Given the description of an element on the screen output the (x, y) to click on. 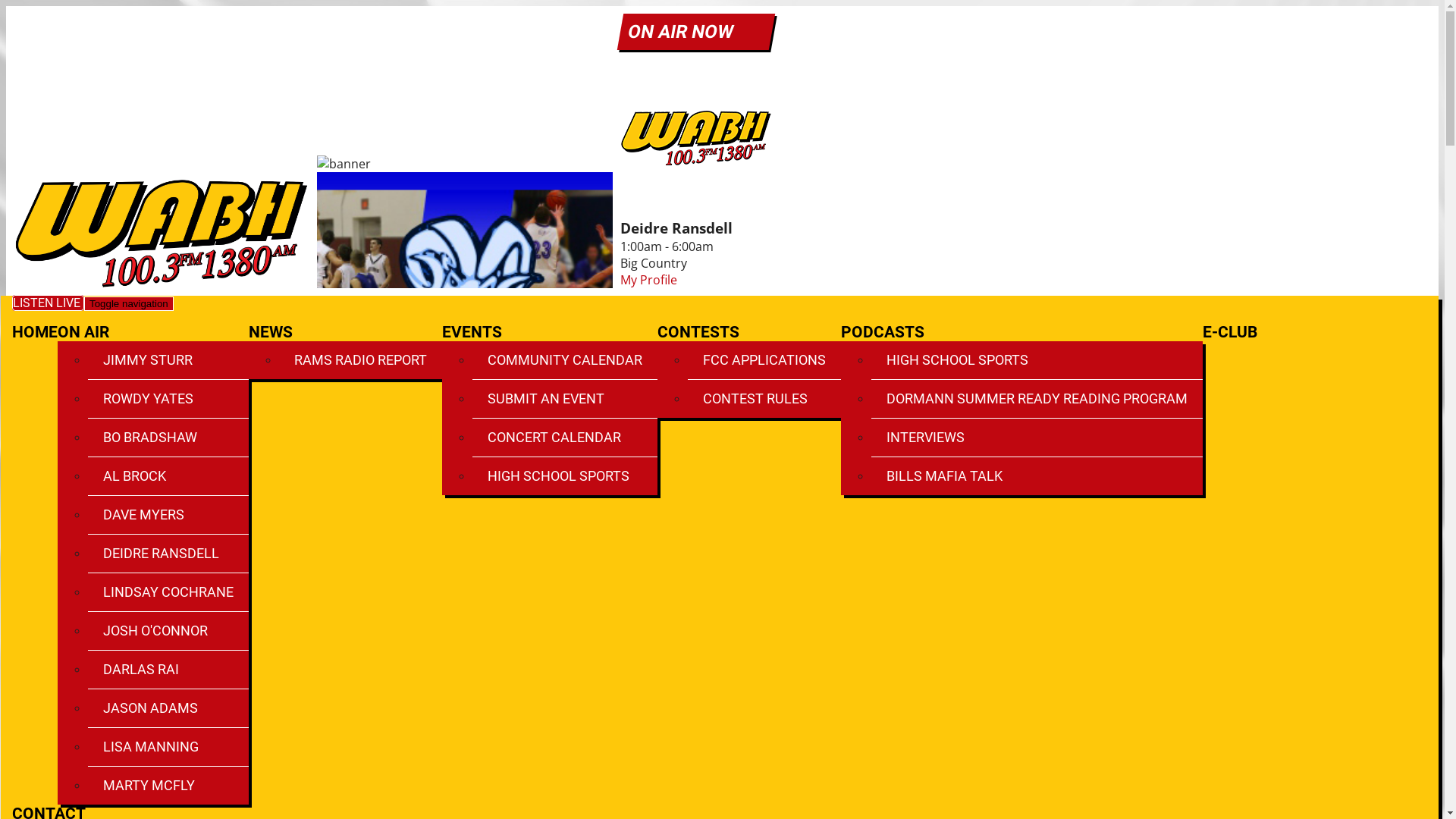
BO BRADSHAW Element type: text (167, 437)
NEWS Element type: text (270, 331)
INTERVIEWS Element type: text (1036, 437)
E-CLUB Element type: text (1229, 331)
CONTESTS Element type: text (698, 331)
FCC APPLICATIONS Element type: text (763, 360)
HIGH SCHOOL SPORTS Element type: text (1036, 360)
EVENTS Element type: text (472, 331)
HIGH SCHOOL SPORTS Element type: text (564, 476)
AL BROCK Element type: text (167, 476)
HOME Element type: text (34, 331)
LISTEN LIVE Element type: text (48, 302)
JIMMY STURR Element type: text (167, 360)
SUBMIT AN EVENT Element type: text (564, 398)
ON AIR Element type: text (83, 331)
CONTEST RULES Element type: text (763, 398)
DEIDRE RANSDELL Element type: text (167, 553)
DARLAS RAI Element type: text (167, 669)
LISA MANNING Element type: text (167, 746)
PODCASTS Element type: text (882, 331)
COMMUNITY CALENDAR Element type: text (564, 360)
LINDSAY COCHRANE Element type: text (167, 592)
Toggle navigation Element type: text (128, 303)
RAMS RADIO REPORT Element type: text (360, 360)
My Profile Element type: text (648, 279)
BILLS MAFIA TALK Element type: text (1036, 476)
DORMANN SUMMER READY READING PROGRAM Element type: text (1036, 398)
JOSH O'CONNOR Element type: text (167, 630)
MARTY MCFLY Element type: text (167, 785)
JASON ADAMS Element type: text (167, 708)
DAVE MYERS Element type: text (167, 514)
ROWDY YATES Element type: text (167, 398)
CONCERT CALENDAR Element type: text (564, 437)
